Given the description of an element on the screen output the (x, y) to click on. 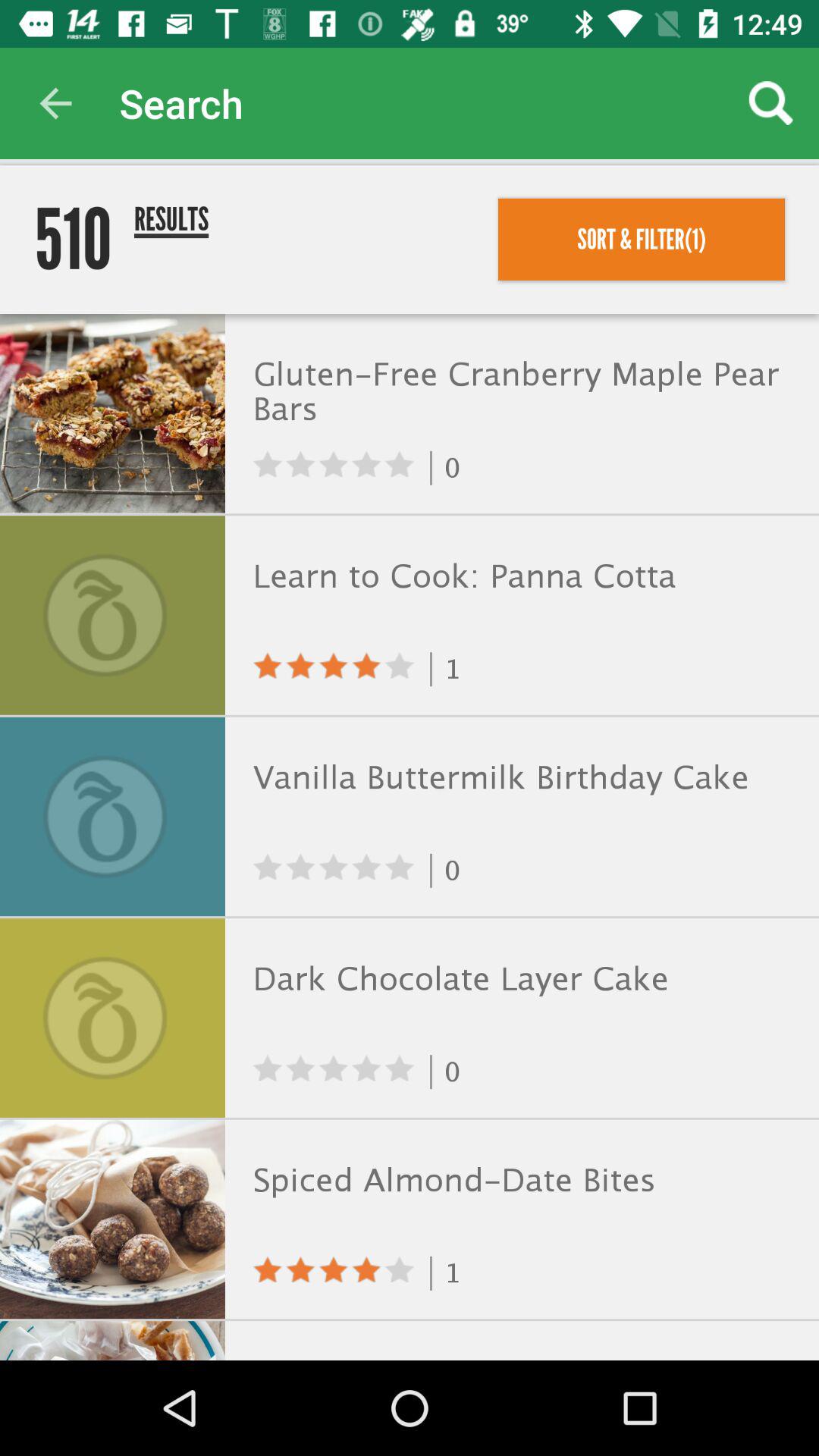
click the vanilla buttermilk birthday item (518, 778)
